Given the description of an element on the screen output the (x, y) to click on. 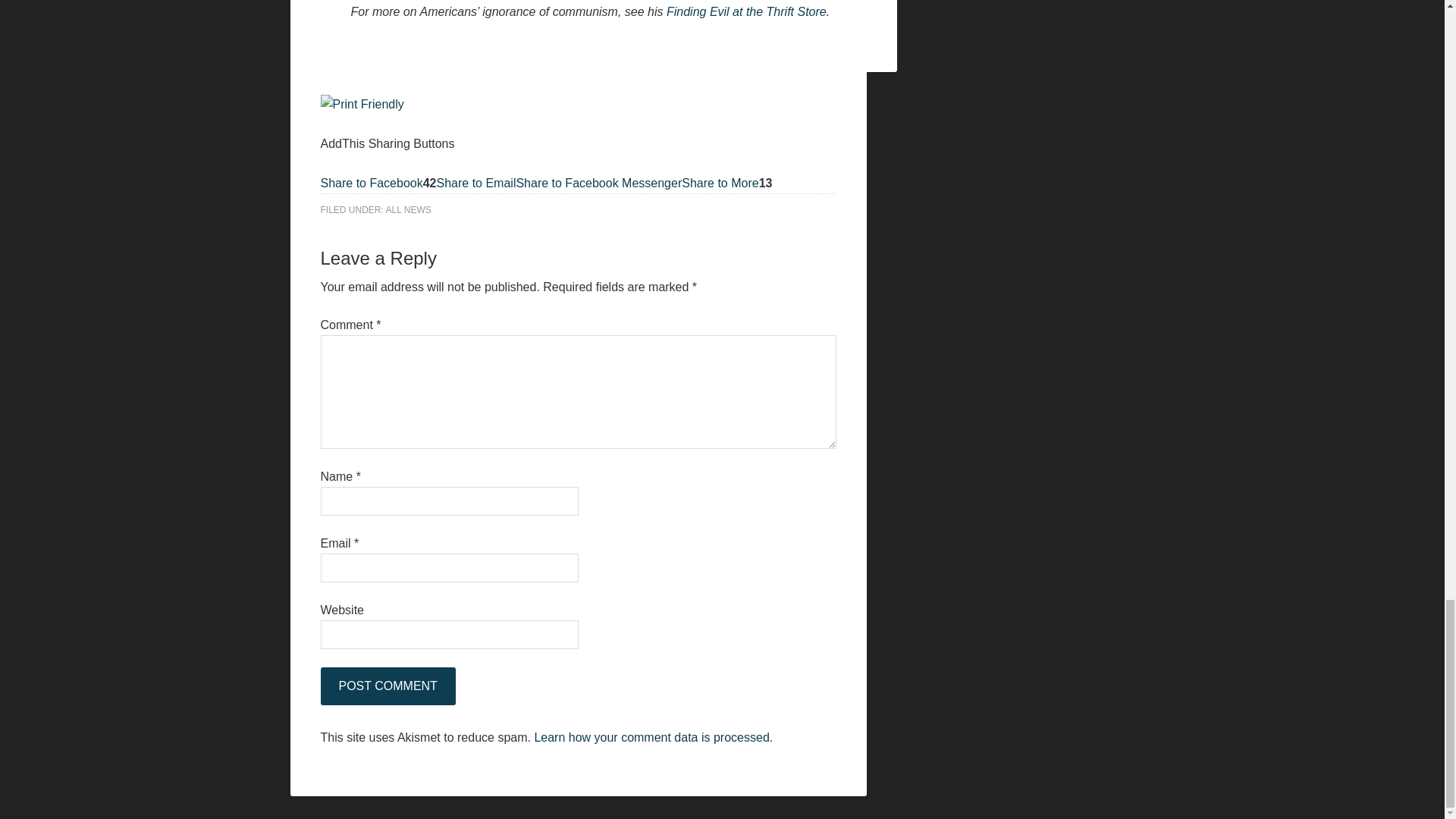
Share to Email (476, 182)
Share to Facebook (371, 182)
Post Comment (387, 686)
Finding Evil at the Thrift Store (746, 11)
